Given the description of an element on the screen output the (x, y) to click on. 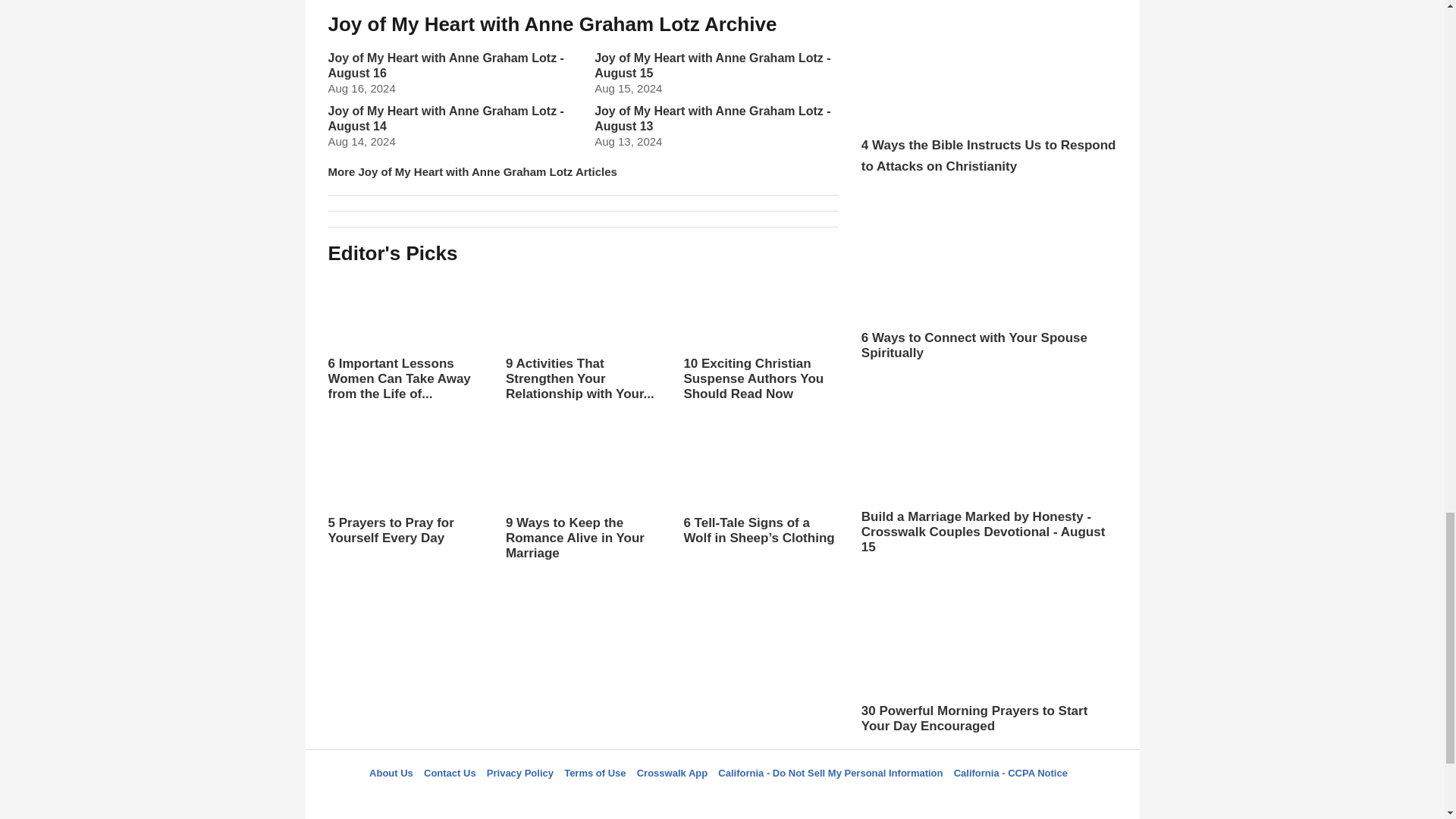
Facebook (645, 800)
5 Prayers to Pray for Yourself Every Day (404, 488)
Twitter (683, 800)
9 Ways to Keep the Romance Alive in Your Marriage (583, 509)
LifeAudio (719, 800)
Pinterest (757, 800)
10 Exciting Christian Suspense Authors You Should Read Now (760, 336)
